Given the description of an element on the screen output the (x, y) to click on. 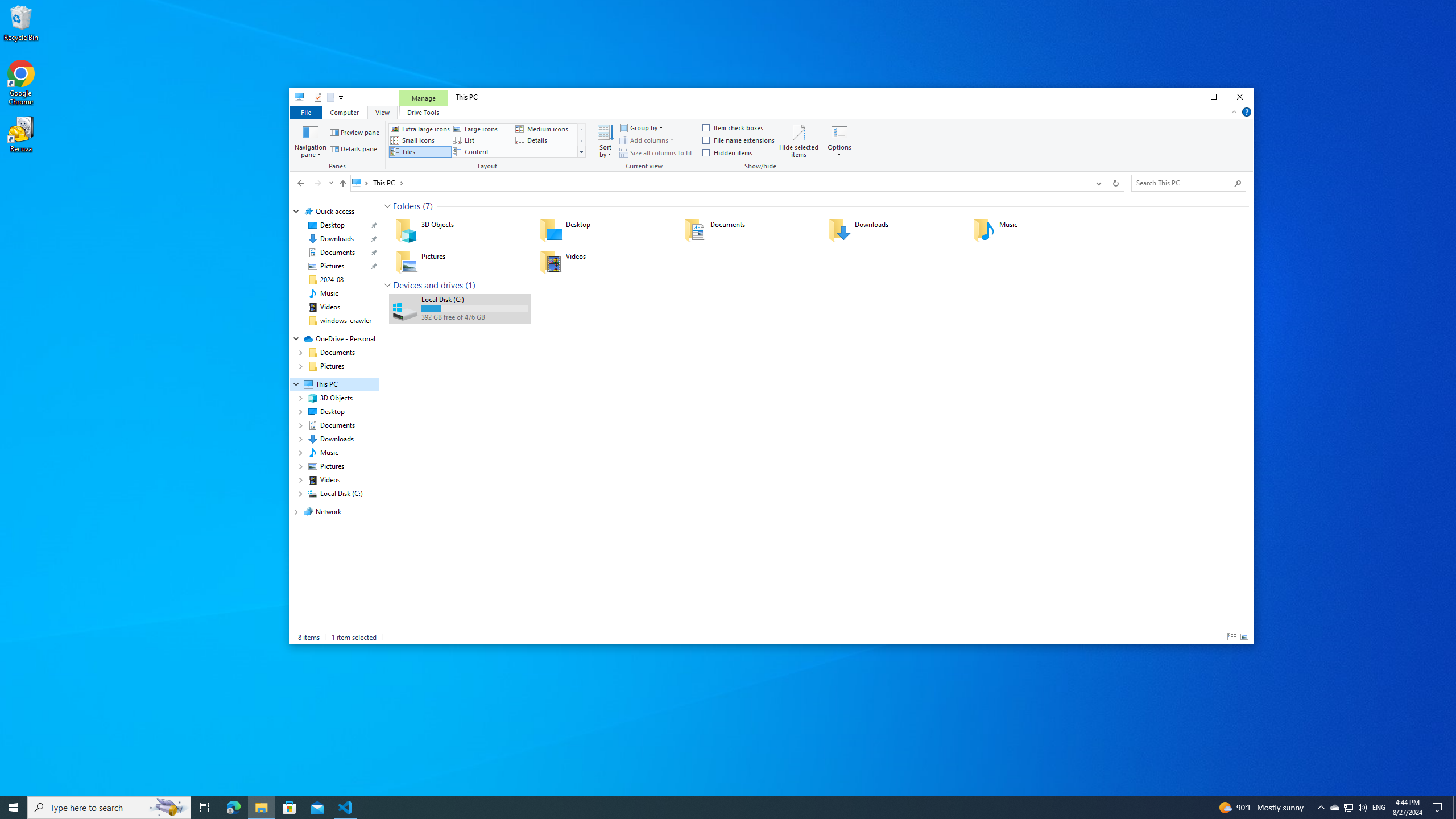
Available space (474, 316)
Search (1238, 182)
Downloads (892, 229)
Up to "Desktop" (Alt + Up Arrow) (342, 183)
Music (1037, 229)
View (381, 111)
System (295, 98)
Navigation pane (310, 140)
Collapse Group (386, 285)
Refresh "This PC" (F5) (1115, 182)
Add columns (646, 140)
Address band toolbar (1106, 182)
Customize Quick Access Toolbar (341, 96)
